Given the description of an element on the screen output the (x, y) to click on. 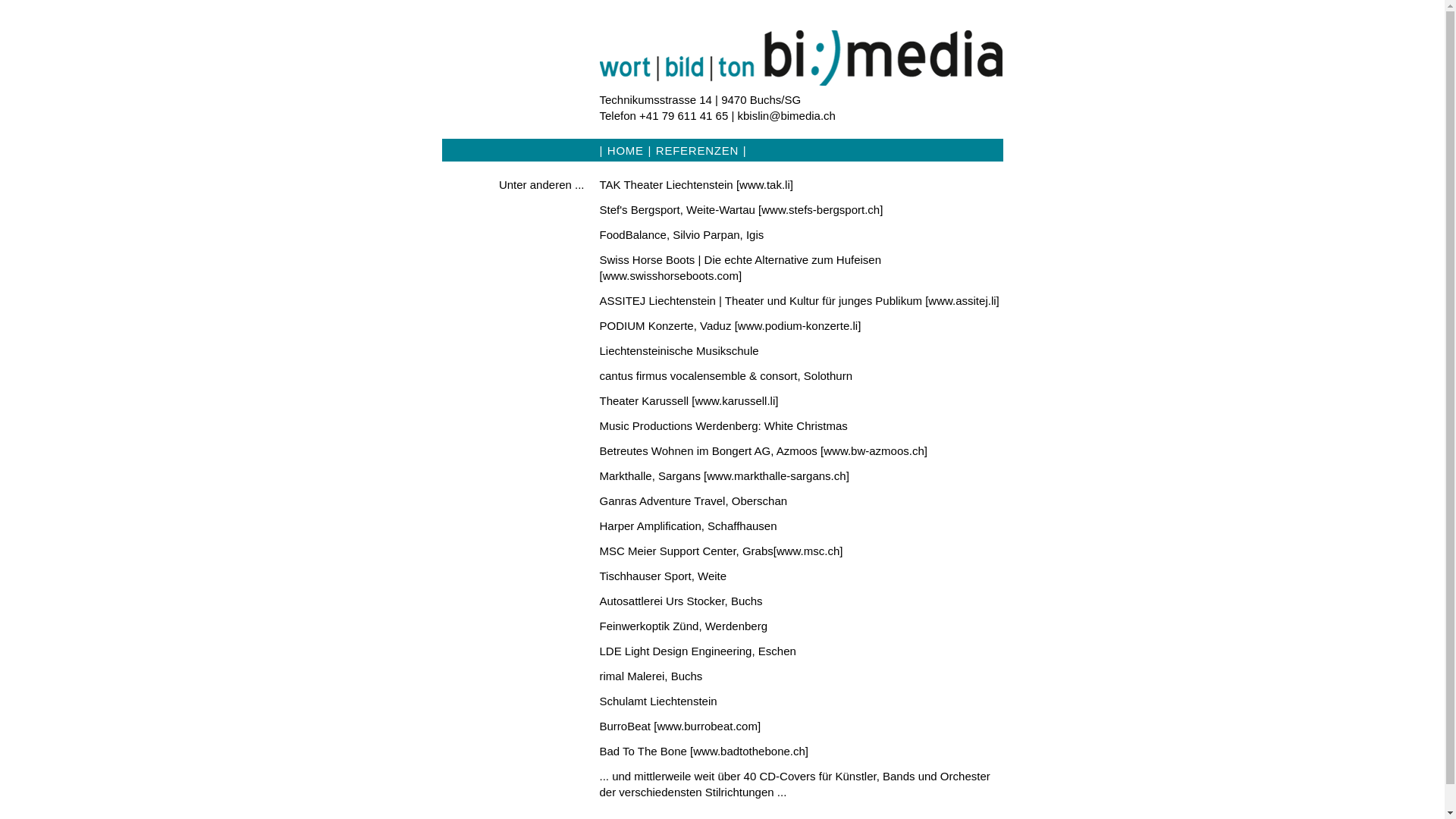
www.swisshorseboots.com Element type: text (670, 275)
www.msc.ch Element type: text (807, 550)
kbislin@bimedia.ch Element type: text (785, 115)
www.assitej.li Element type: text (961, 300)
www.badtothebone.ch Element type: text (749, 750)
www.stefs-bergsport.ch Element type: text (820, 209)
www.karussell.li Element type: text (734, 400)
HOME Element type: text (625, 150)
www.bw-azmoos.ch Element type: text (873, 450)
www.markthalle-sargans.ch Element type: text (775, 475)
www.burrobeat.com Element type: text (706, 725)
www.tak.li Element type: text (764, 184)
www.podium-konzerte.li Element type: text (797, 325)
